Given the description of an element on the screen output the (x, y) to click on. 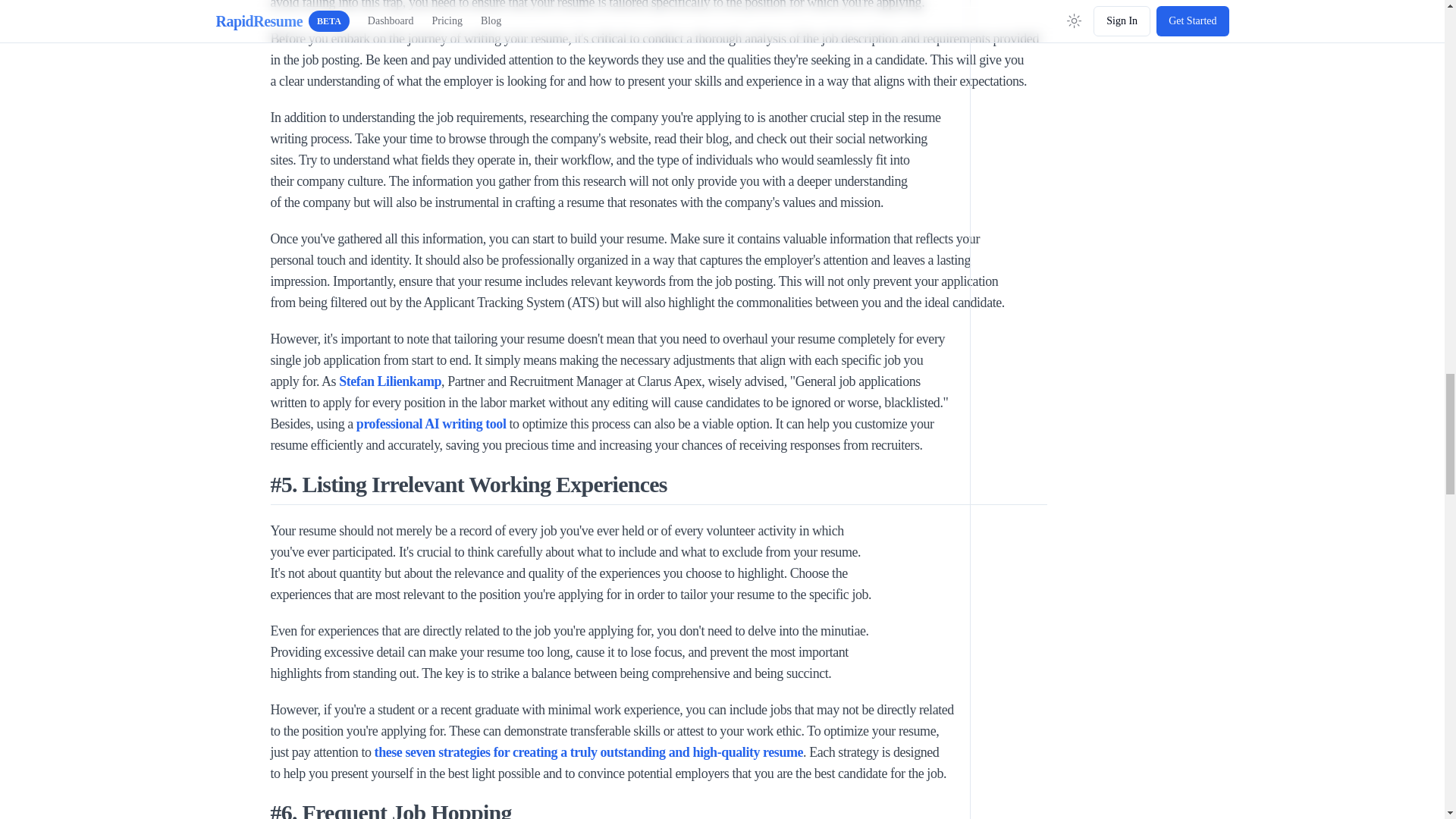
Stefan Lilienkamp (390, 381)
professional AI writing tool (429, 423)
